Given the description of an element on the screen output the (x, y) to click on. 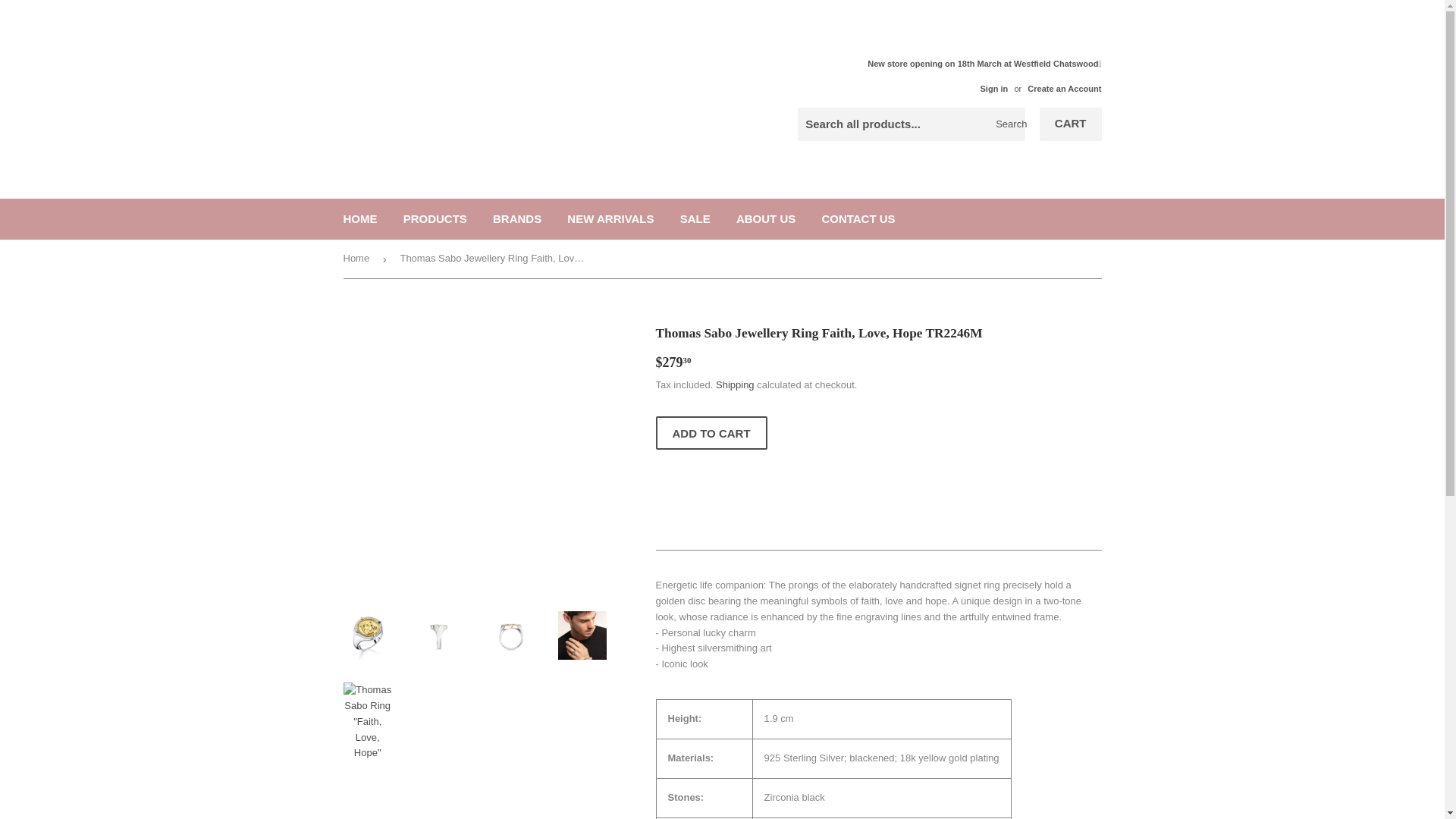
Search (1008, 124)
CART (1070, 123)
Sign in (993, 88)
Create an Account (1063, 88)
